Given the description of an element on the screen output the (x, y) to click on. 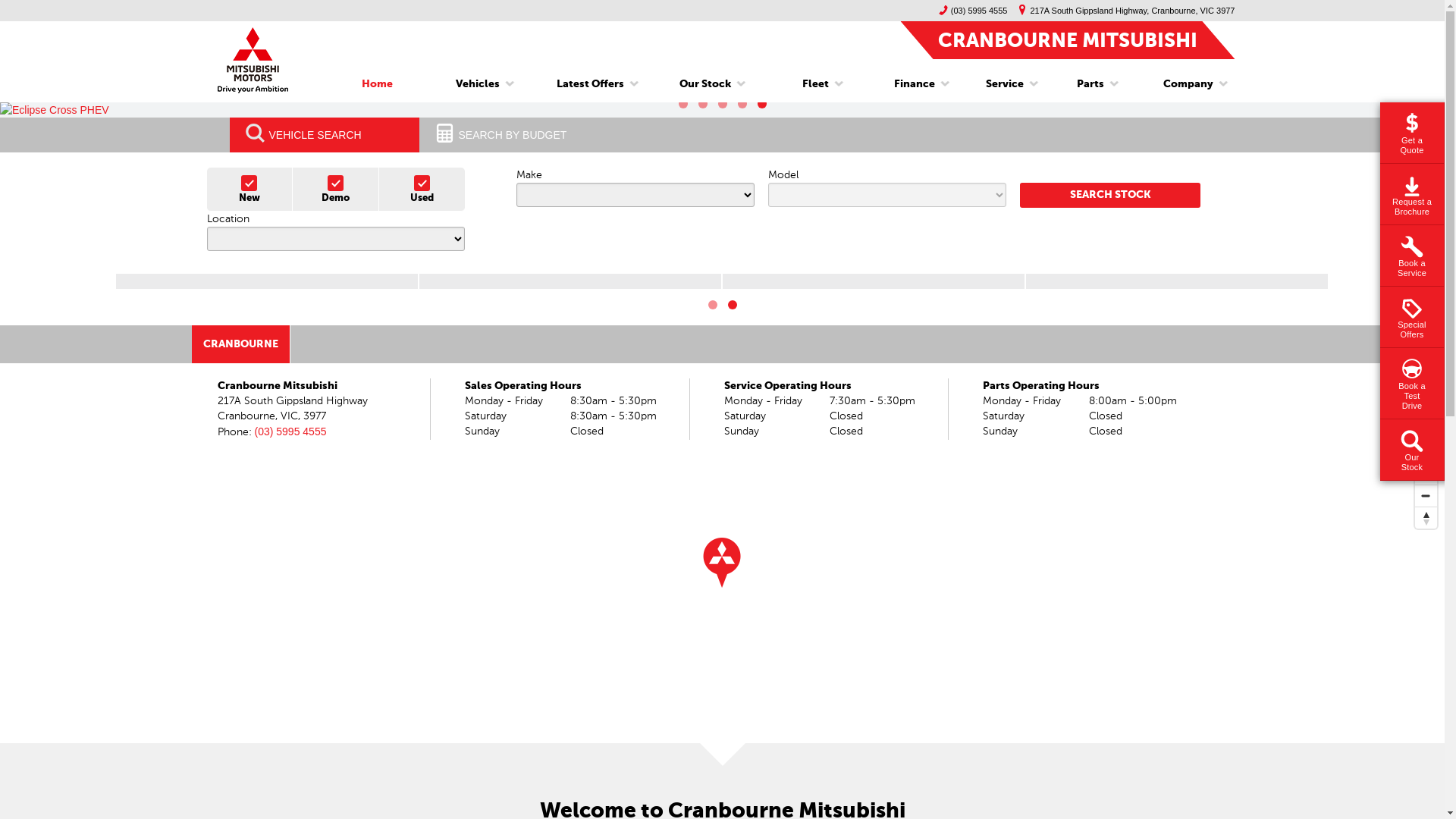
217A South Gippsland Highway, Cranbourne, VIC 3977 Element type: text (1122, 10)
CRANBOURNE Element type: text (239, 344)
FINANCE ENQUIRY Element type: text (872, 280)
Finance Element type: text (914, 83)
ACCESSORIES Element type: text (569, 280)
Zoom out Element type: hover (1426, 495)
SEARCH BY BUDGET Element type: text (513, 134)
Latest Offers Element type: text (590, 83)
Company Element type: text (1182, 83)
Fleet Element type: text (815, 83)
(03) 5995 4555 Element type: text (290, 431)
SERVICE BOOKING Element type: text (1176, 280)
VEHICLE SEARCH Element type: text (323, 134)
Zoom in Element type: hover (1426, 473)
SEARCH STOCK Element type: text (1109, 194)
Parts Element type: text (1090, 83)
Service Element type: text (1004, 83)
CRANBOURNE MITSUBISHI Element type: text (1066, 40)
Home Element type: text (377, 83)
Vehicles Element type: text (477, 83)
Reset bearing to north Element type: hover (1426, 517)
Our Stock Element type: text (705, 83)
USED VEHICLES Element type: text (266, 280)
